Given the description of an element on the screen output the (x, y) to click on. 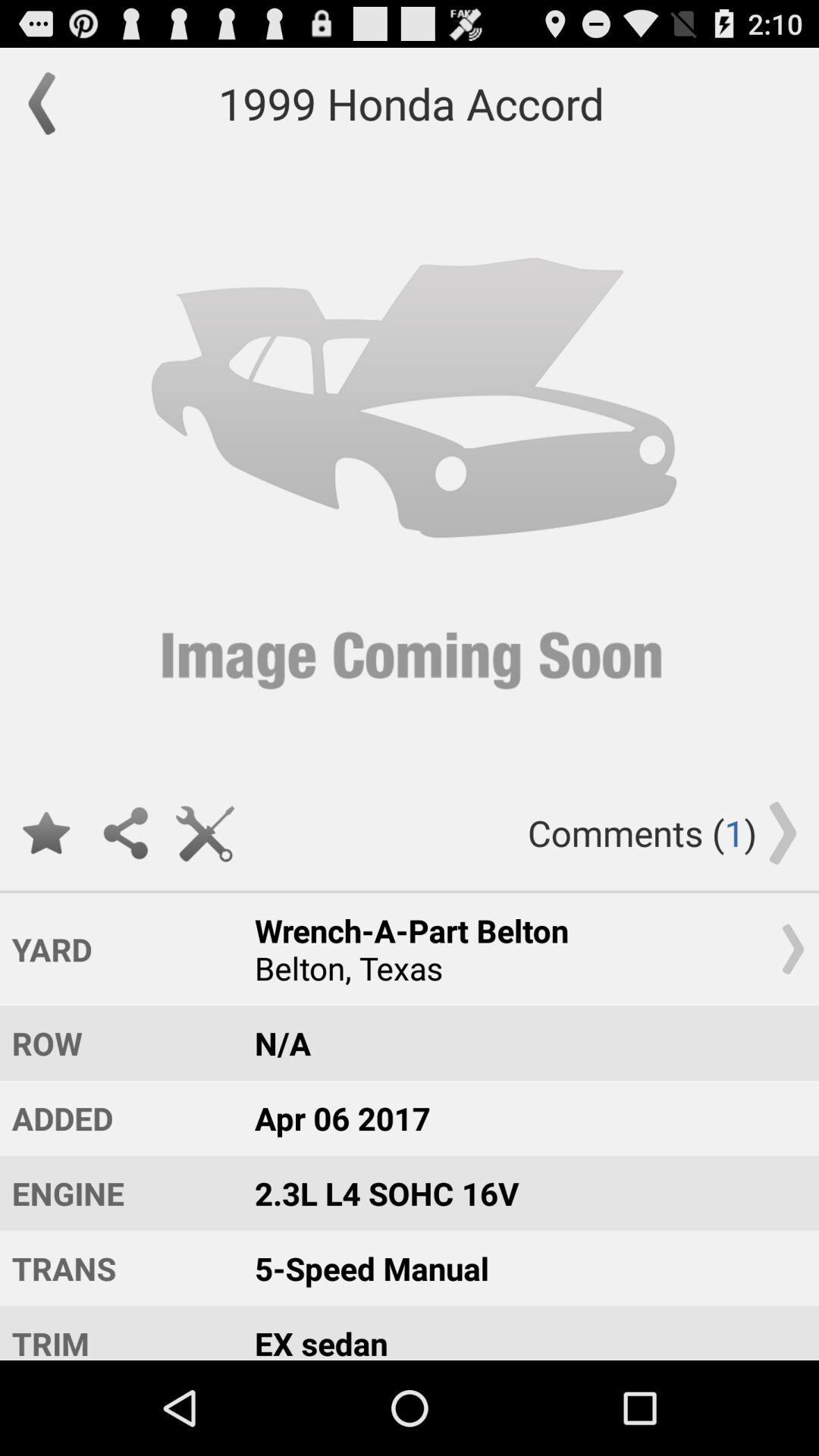
launch apr 06 2017 item (522, 1117)
